Given the description of an element on the screen output the (x, y) to click on. 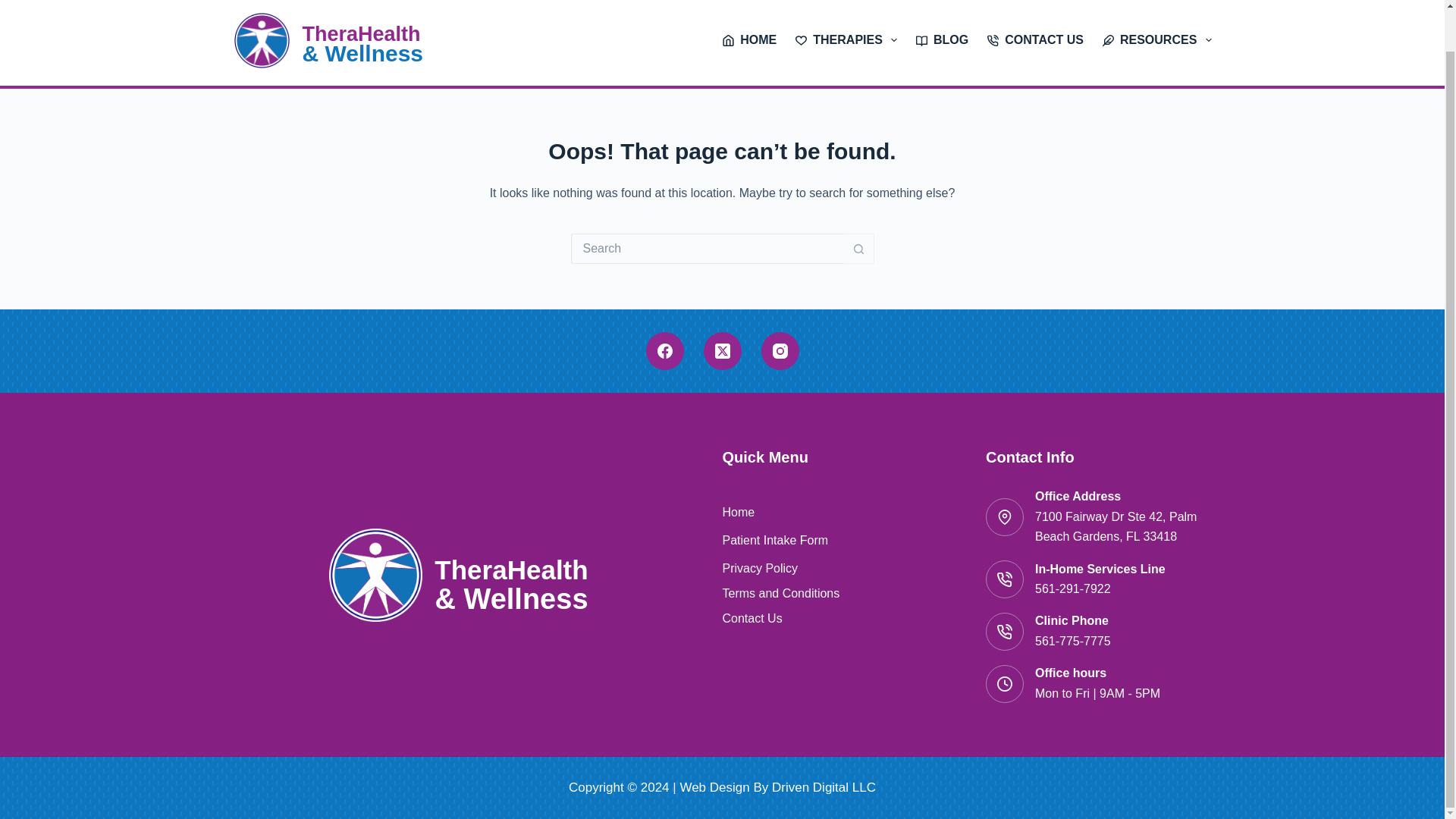
BLOG (942, 42)
TheraHealth (360, 33)
Search for... (706, 248)
THERAPIES (846, 42)
HOME (749, 42)
